Given the description of an element on the screen output the (x, y) to click on. 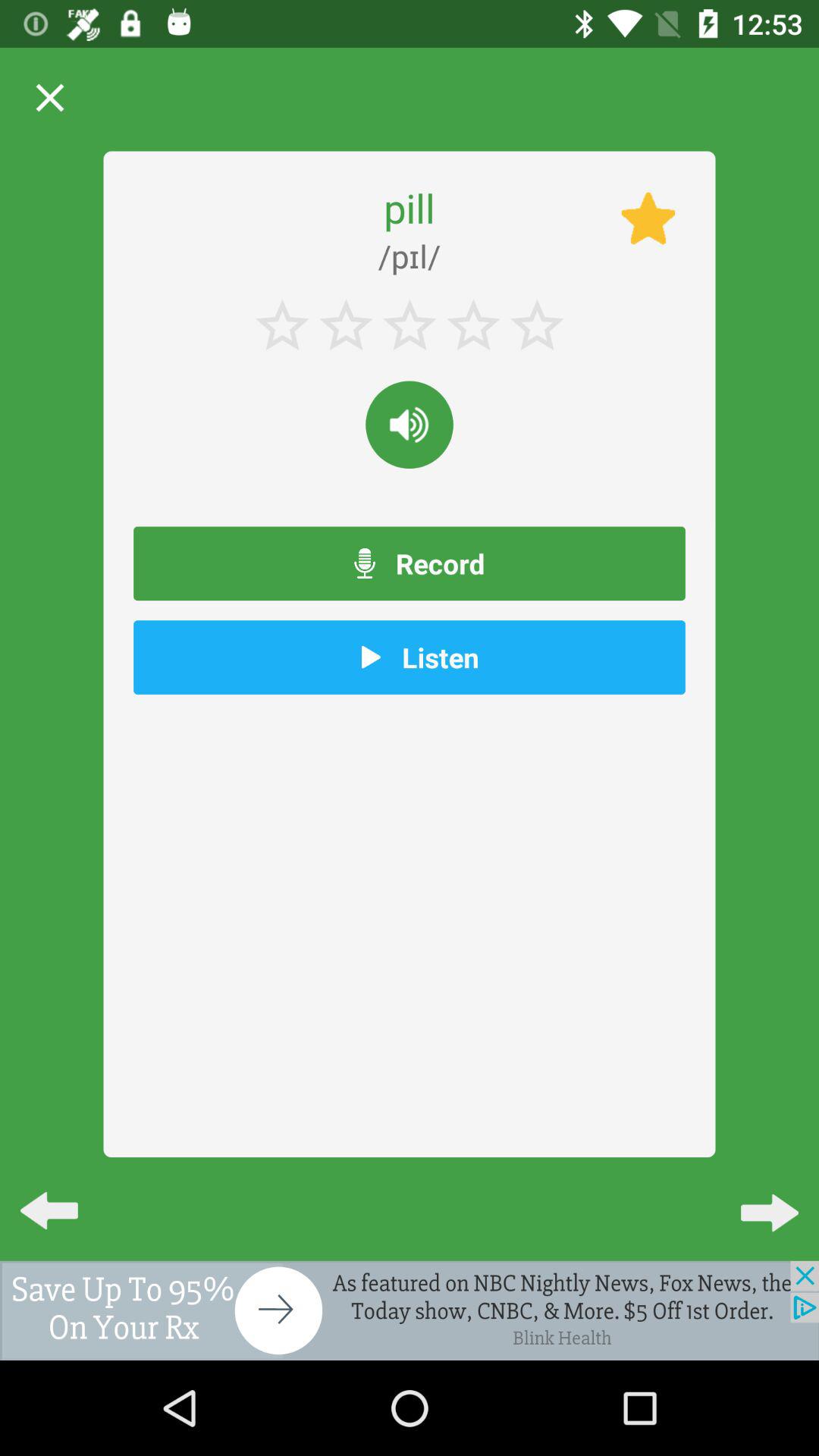
go to back (409, 1310)
